Given the description of an element on the screen output the (x, y) to click on. 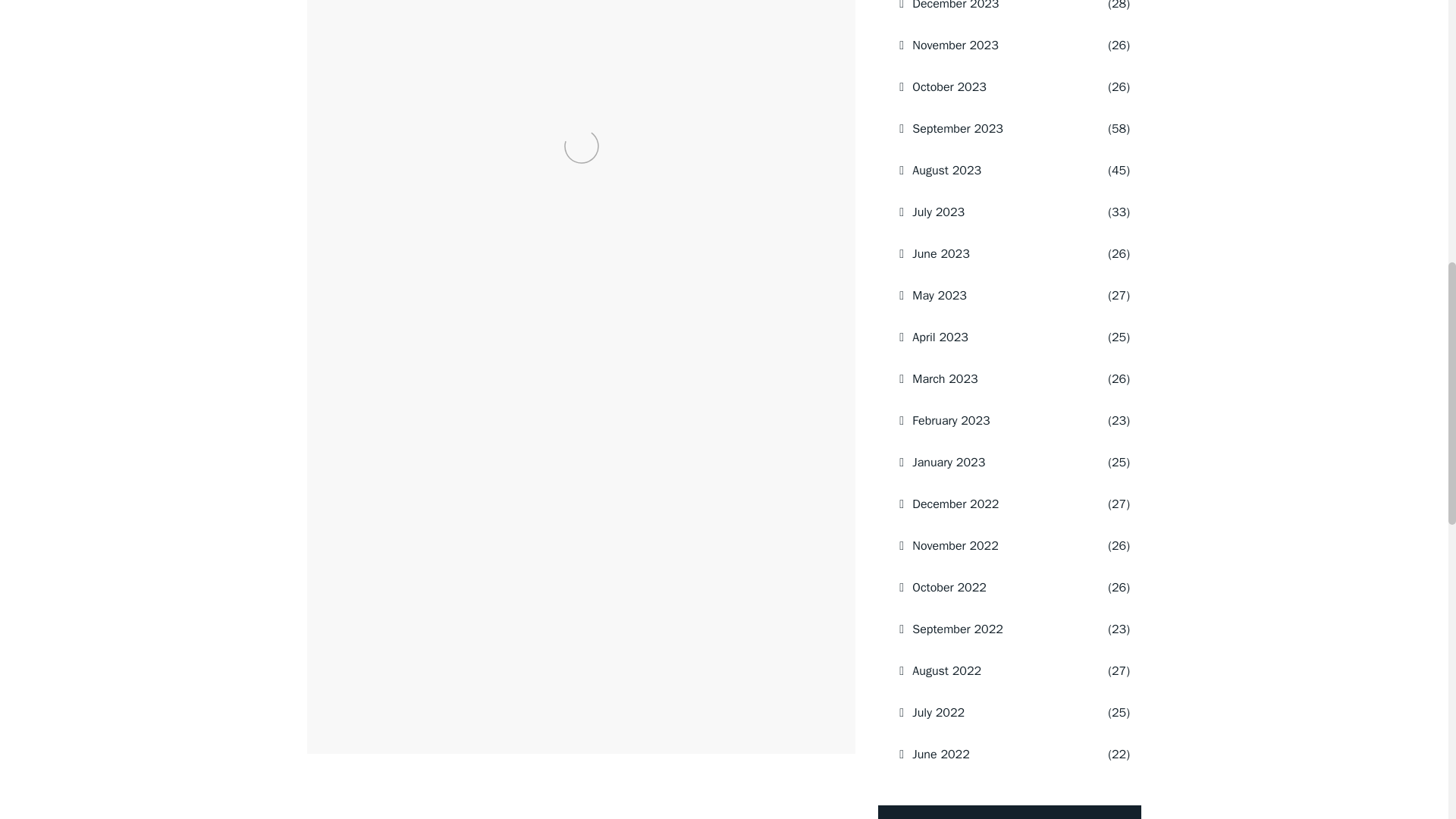
August 2023 (990, 169)
May 2023 (990, 295)
March 2023 (990, 378)
December 2023 (990, 12)
September 2023 (990, 128)
December 2022 (990, 504)
July 2023 (990, 211)
November 2022 (990, 545)
October 2022 (990, 587)
January 2023 (990, 462)
April 2023 (990, 336)
June 2023 (990, 253)
October 2023 (990, 86)
February 2023 (990, 420)
November 2023 (990, 45)
